Given the description of an element on the screen output the (x, y) to click on. 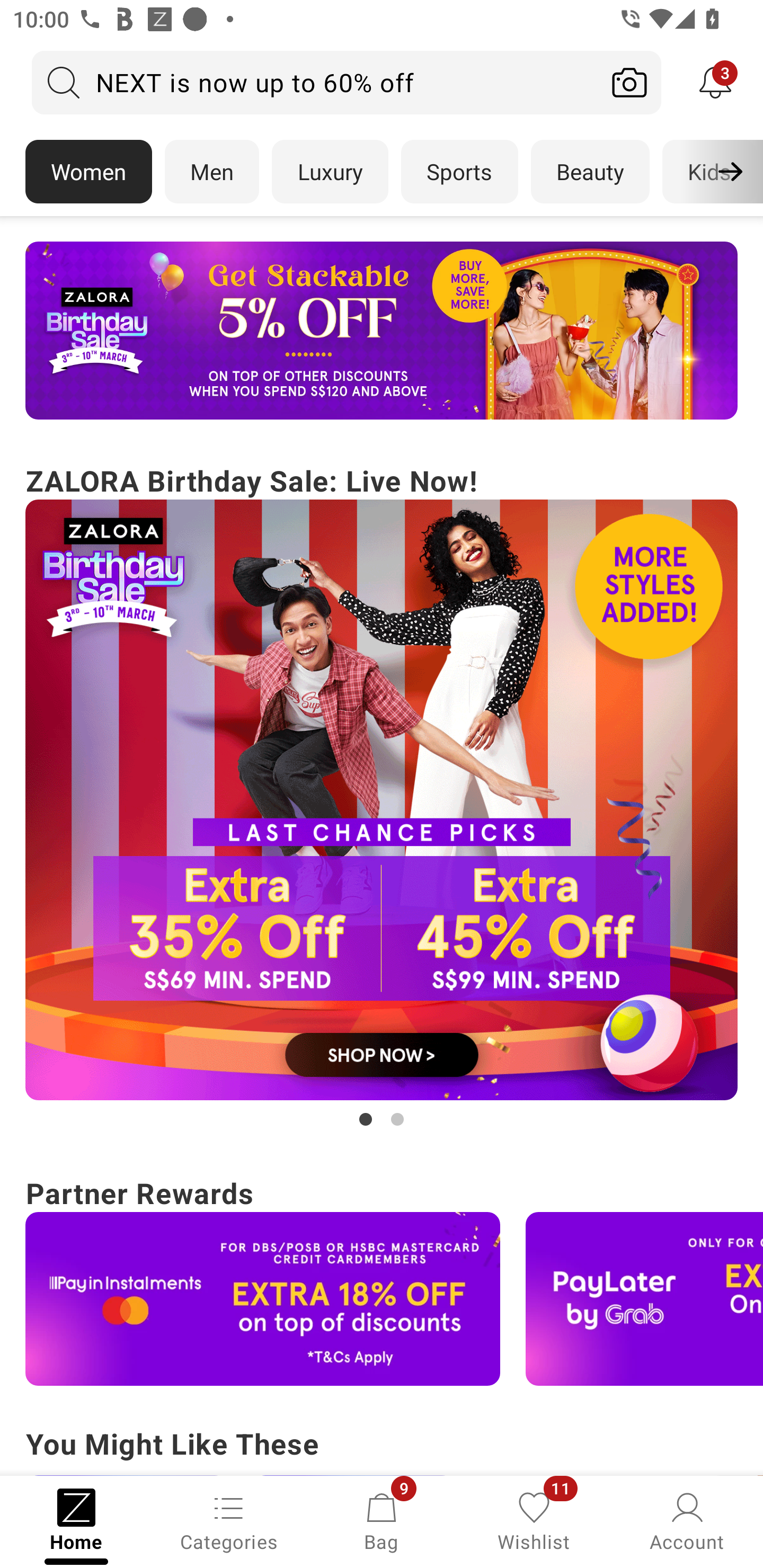
NEXT is now up to 60% off (314, 82)
Women (88, 171)
Men (211, 171)
Luxury (329, 171)
Sports (459, 171)
Beauty (590, 171)
Campaign banner (381, 330)
ZALORA Birthday Sale: Live Now! Campaign banner (381, 794)
Campaign banner (381, 800)
Partner Rewards Campaign banner Campaign banner (381, 1277)
Campaign banner (262, 1299)
Campaign banner (644, 1299)
Categories (228, 1519)
Bag, 9 new notifications Bag (381, 1519)
Wishlist, 11 new notifications Wishlist (533, 1519)
Account (686, 1519)
